Given the description of an element on the screen output the (x, y) to click on. 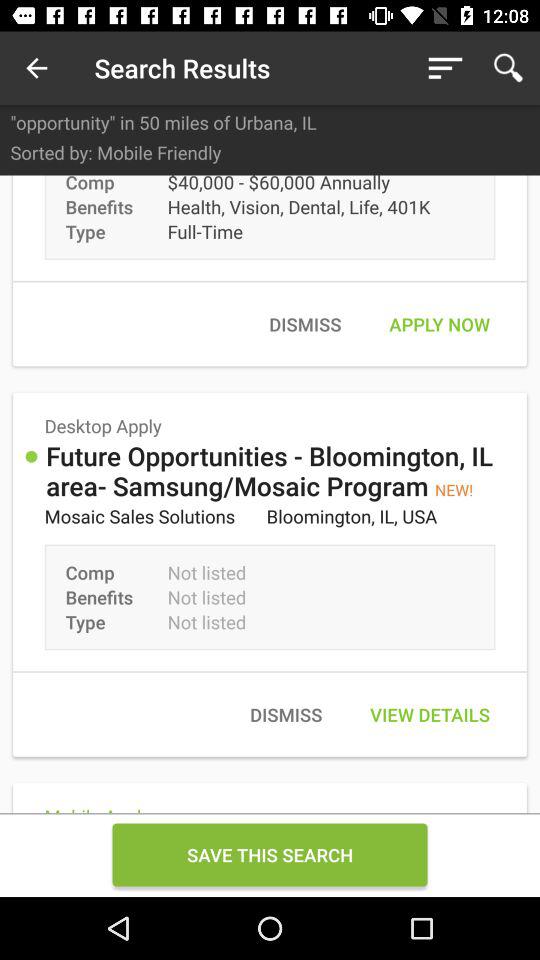
open icon above opportunity in 50 (444, 67)
